Given the description of an element on the screen output the (x, y) to click on. 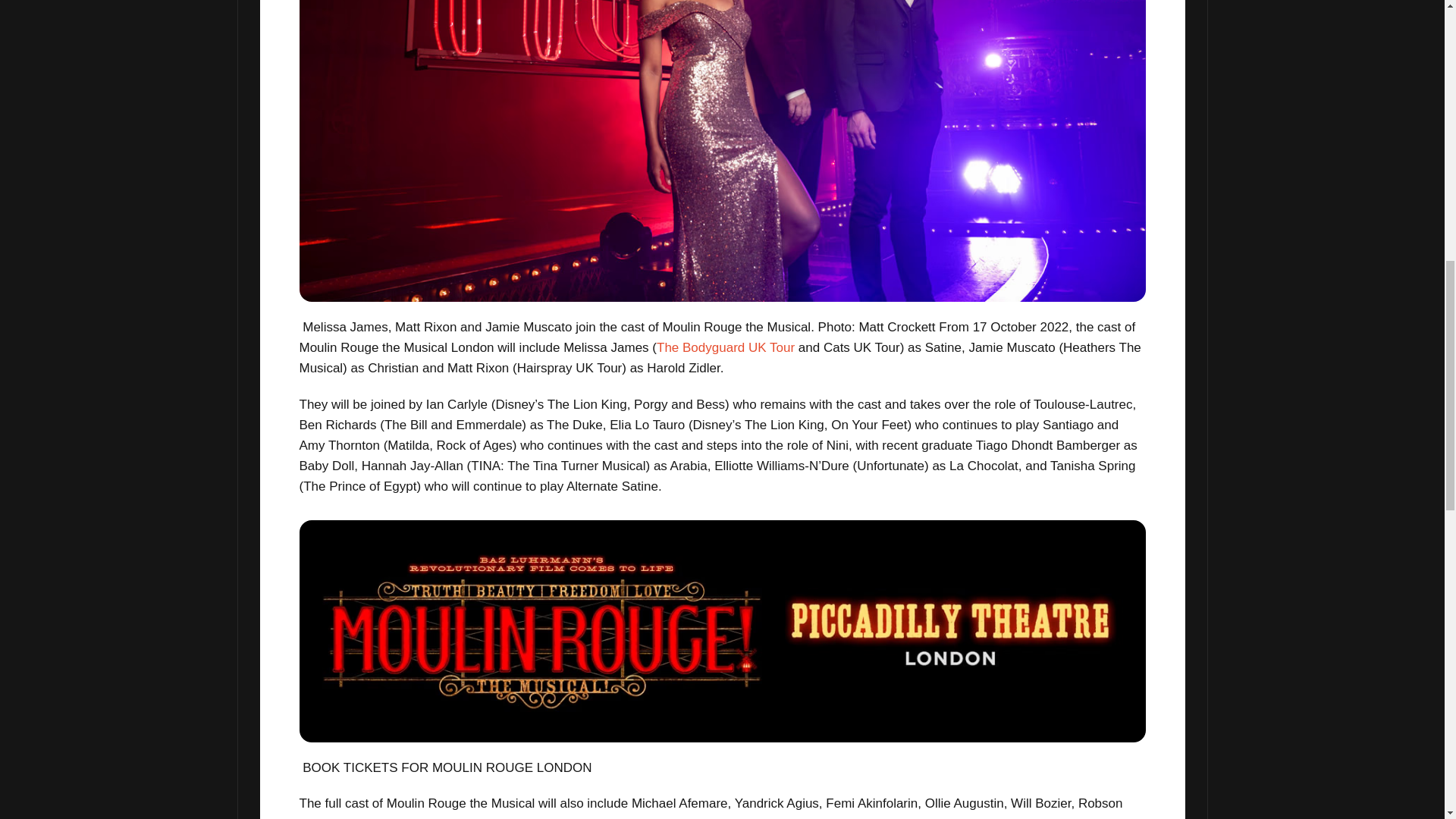
The Bodyguard UK Tour (725, 347)
